Given the description of an element on the screen output the (x, y) to click on. 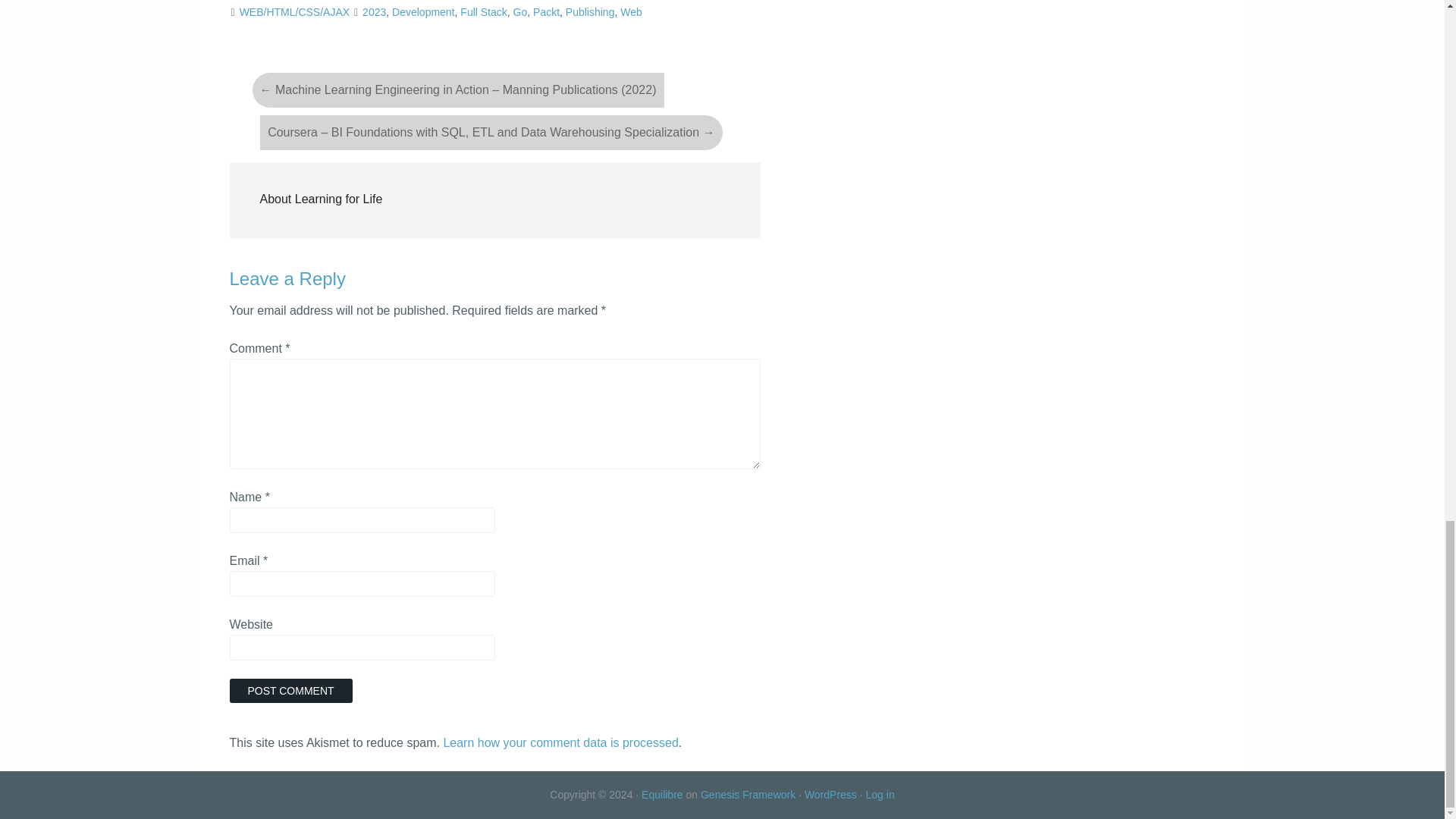
Post Comment (290, 690)
